Given the description of an element on the screen output the (x, y) to click on. 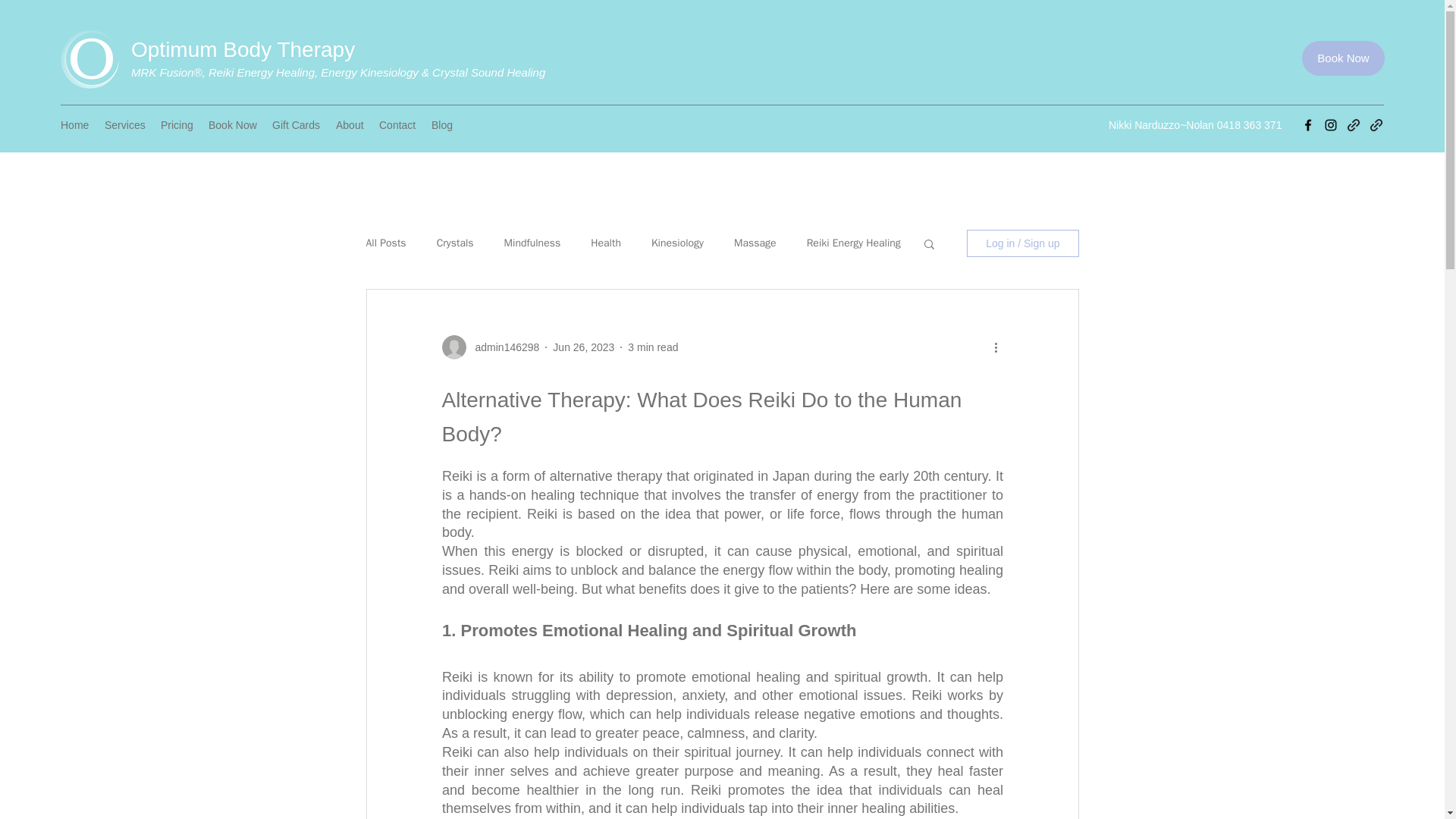
All Posts (385, 243)
Mindfulness (531, 243)
Blog (441, 125)
About (350, 125)
Kinesiology (676, 243)
Reiki Energy Healing (853, 243)
Pricing (176, 125)
Book Now (232, 125)
Health (606, 243)
Jun 26, 2023 (583, 346)
Book Now (1342, 58)
Home (74, 125)
3 min read (652, 346)
Contact (397, 125)
Gift Cards (296, 125)
